Given the description of an element on the screen output the (x, y) to click on. 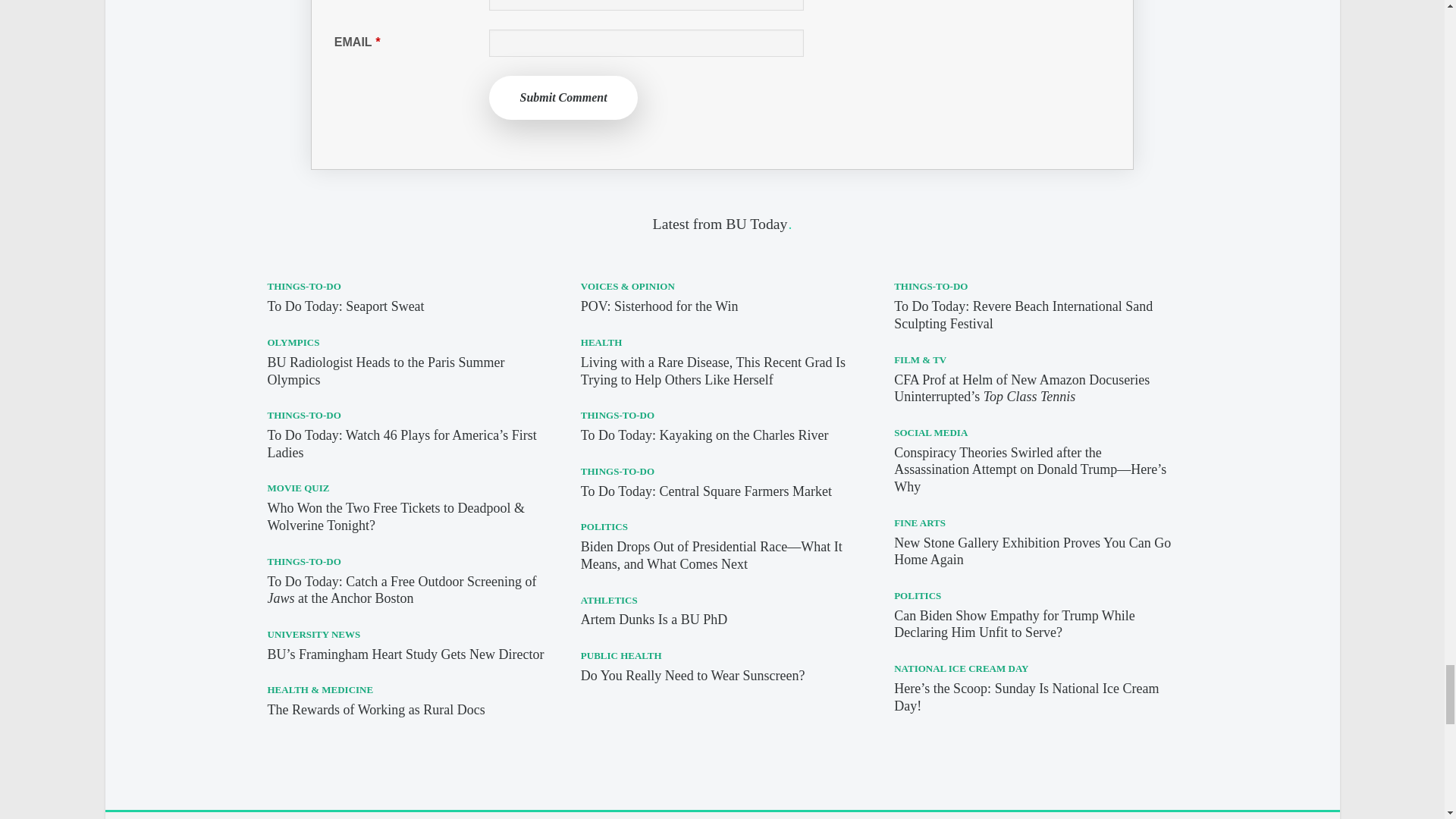
POV: Sisterhood for the Win (659, 305)
The Rewards of Working as Rural Docs (375, 709)
Submit Comment (563, 97)
To Do Today: Seaport Sweat (344, 305)
BU Radiologist Heads to the Paris Summer Olympics (384, 370)
